Given the description of an element on the screen output the (x, y) to click on. 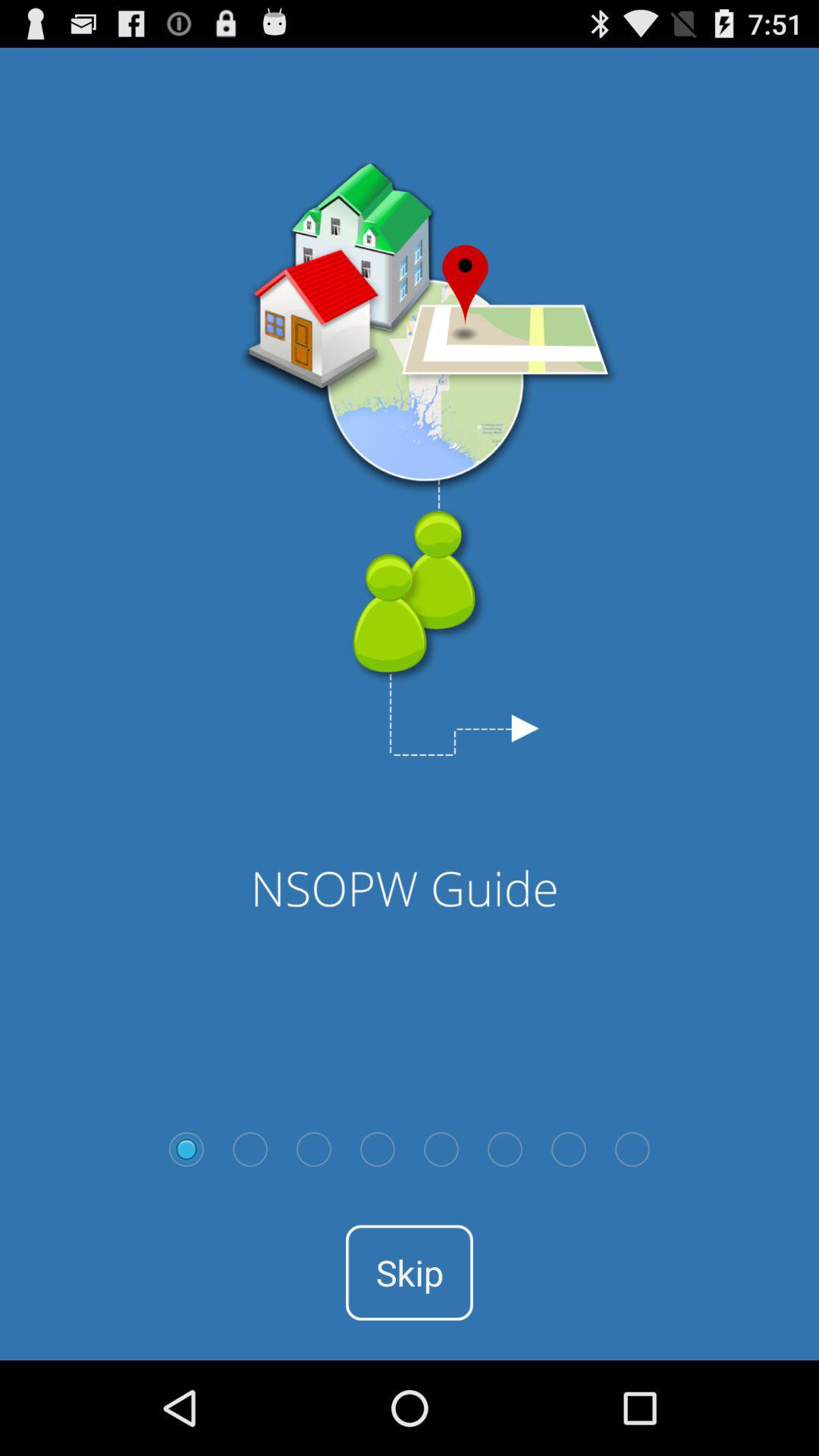
turn to page 7 (568, 1149)
